Given the description of an element on the screen output the (x, y) to click on. 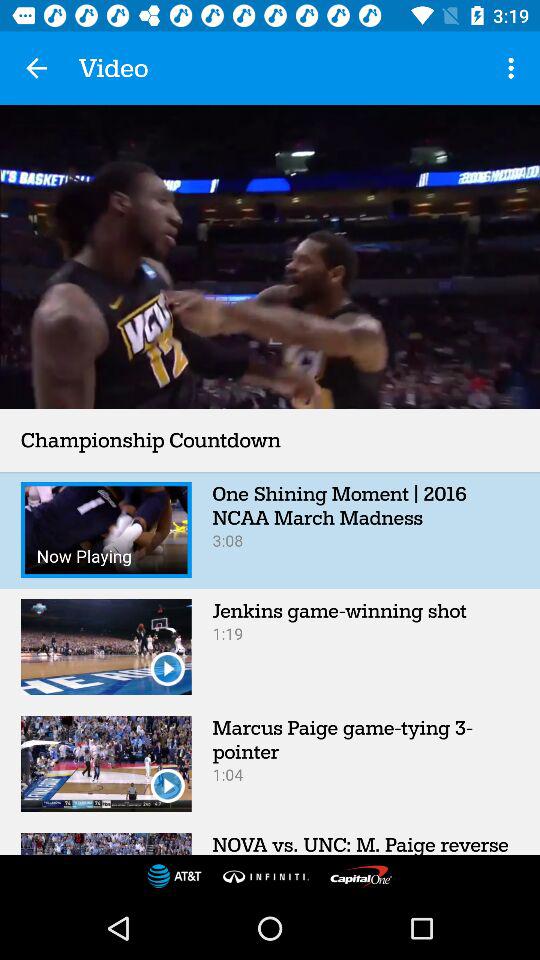
open icon next to video (513, 67)
